Given the description of an element on the screen output the (x, y) to click on. 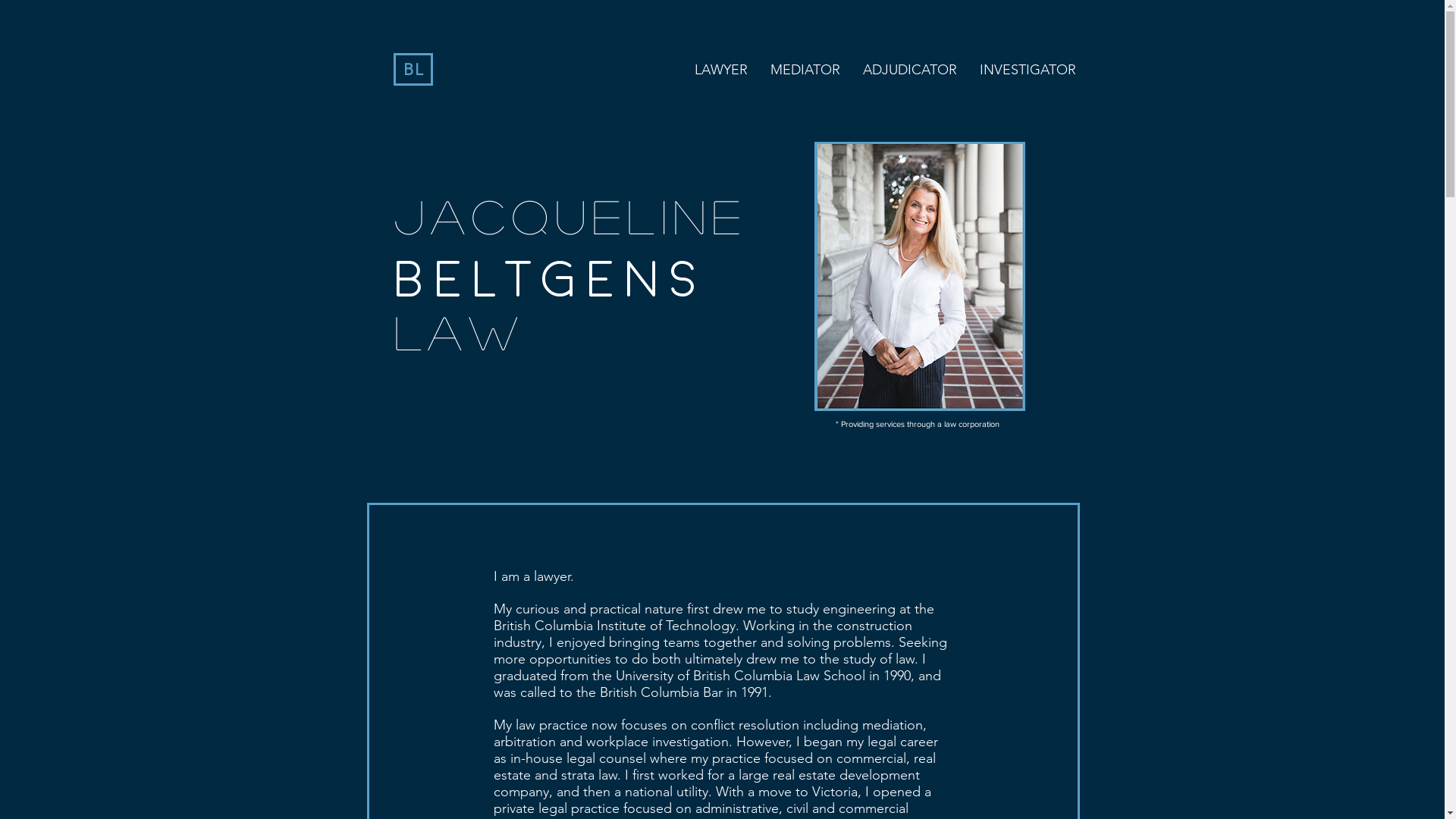
ADJUDICATOR Element type: text (908, 70)
INVESTIGATOR Element type: text (1026, 70)
MEDIATOR Element type: text (804, 70)
BL Element type: text (413, 68)
LAWYER Element type: text (720, 70)
